Given the description of an element on the screen output the (x, y) to click on. 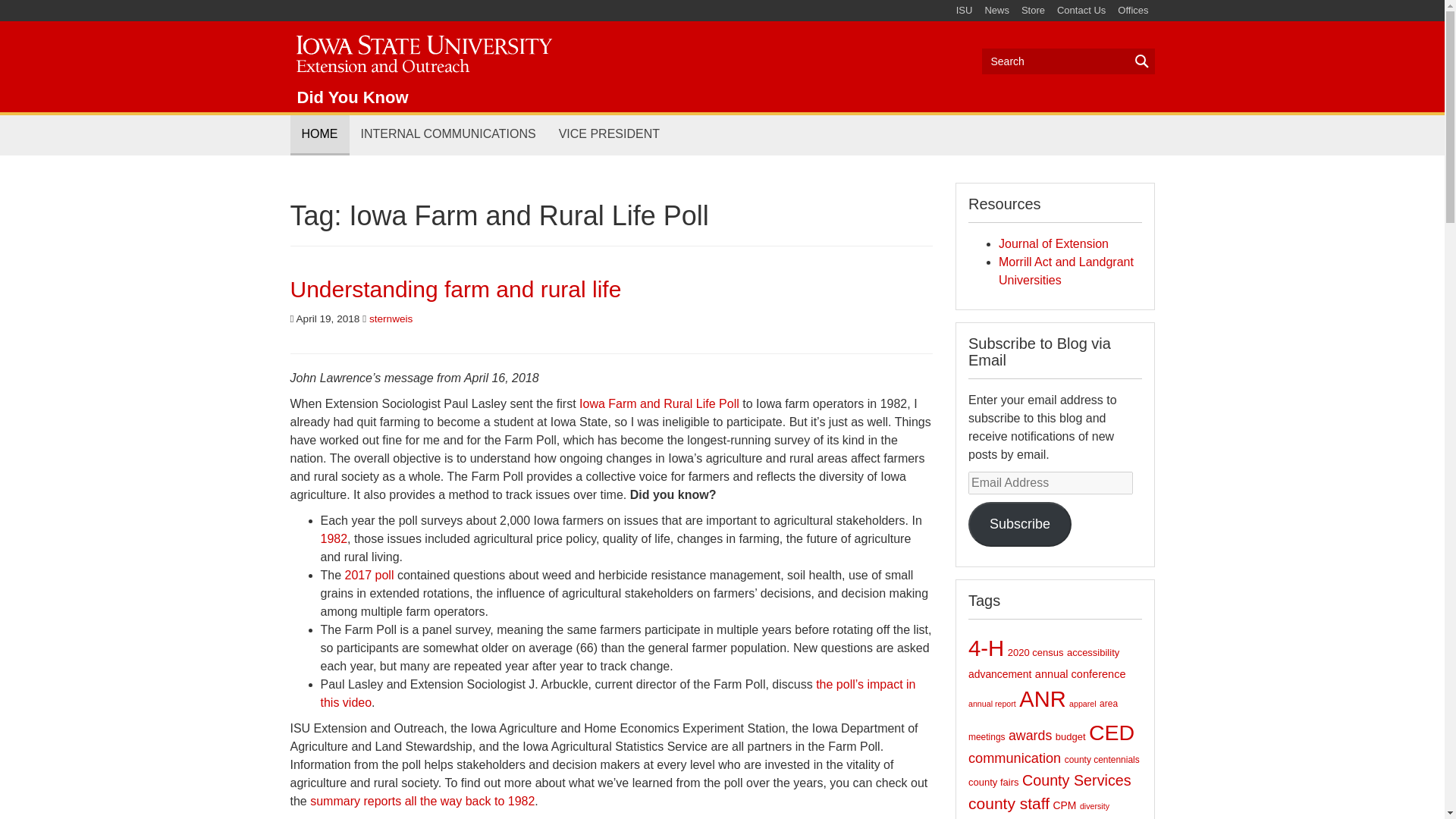
Search (1067, 61)
Contact Us (1081, 10)
ISU (964, 10)
Home (421, 50)
HOME (319, 135)
News (996, 10)
Did You Know (353, 97)
Iowa State University Extension and Outreach (421, 50)
Offices (1133, 10)
Store (1032, 10)
Posted On (324, 318)
